Given the description of an element on the screen output the (x, y) to click on. 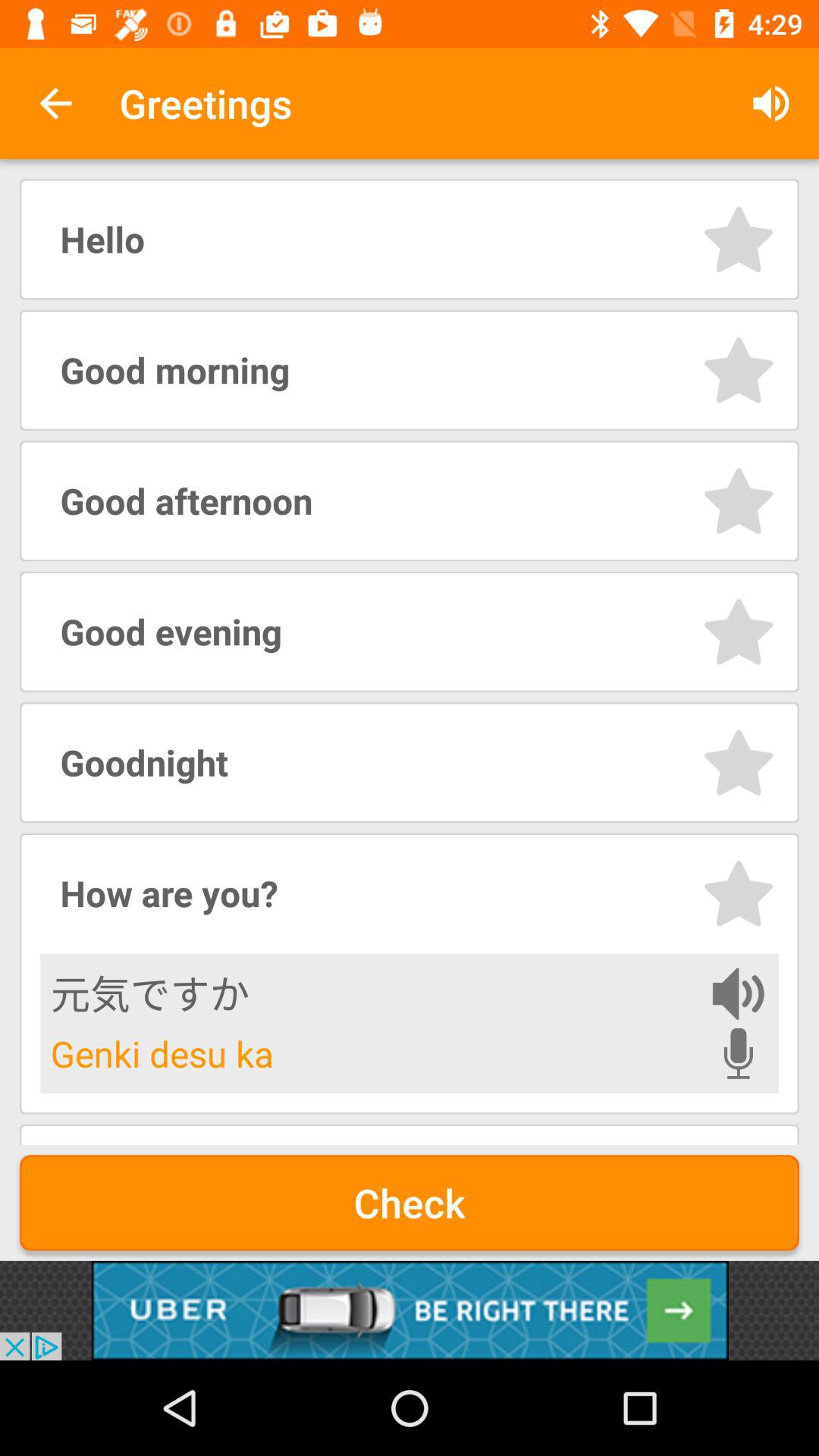
add to favorites (738, 500)
